Given the description of an element on the screen output the (x, y) to click on. 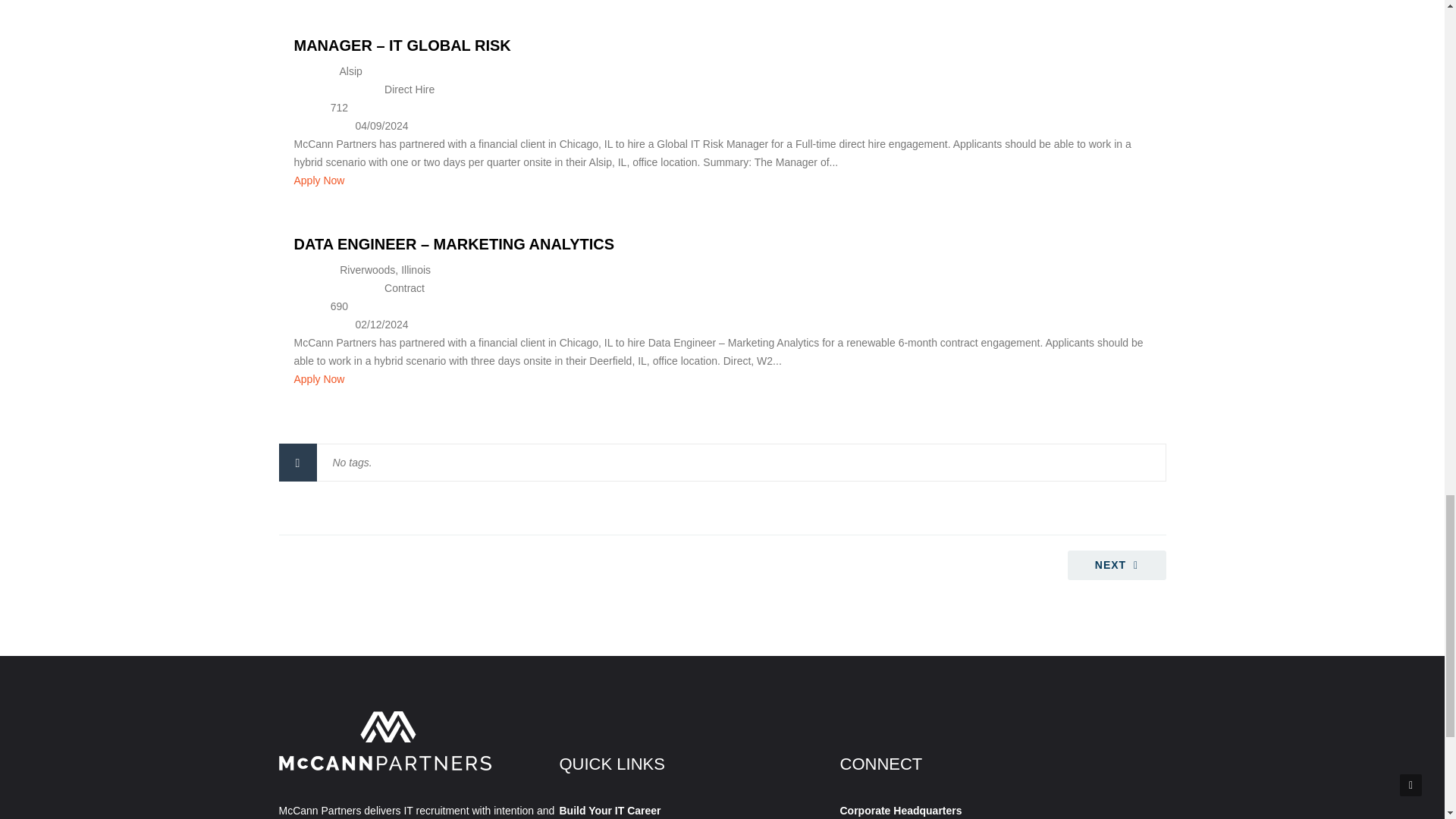
Apply Now (319, 378)
Apply Now (319, 180)
Build Your IT Career (610, 810)
NEXT (1116, 564)
